Given the description of an element on the screen output the (x, y) to click on. 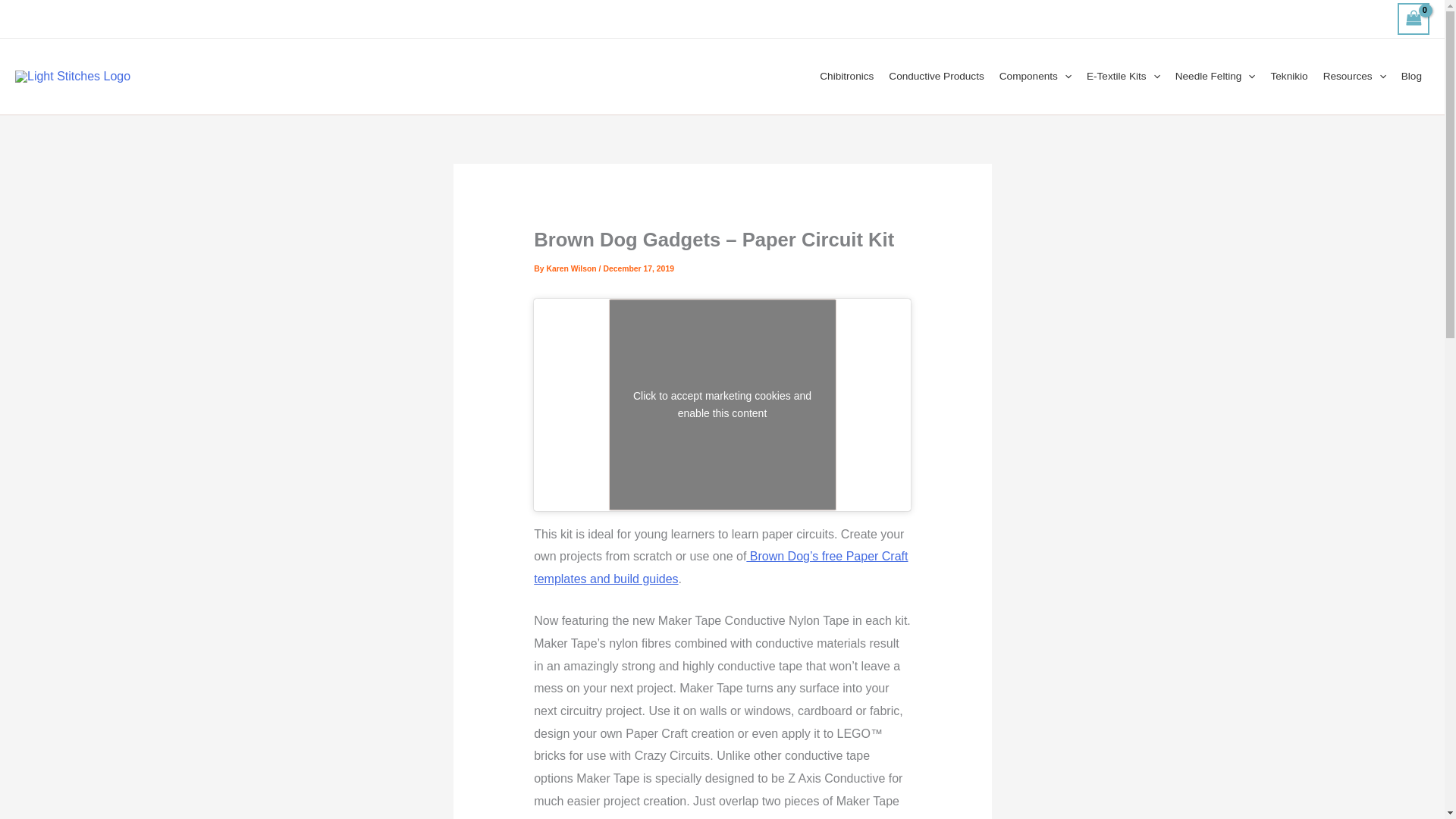
E-Textile Kits (1122, 76)
View all posts by Karen Wilson (572, 268)
Components (1034, 76)
Needle Felting (1215, 76)
Chibitronics (846, 76)
Conductive Products (935, 76)
Resources (1354, 76)
